Given the description of an element on the screen output the (x, y) to click on. 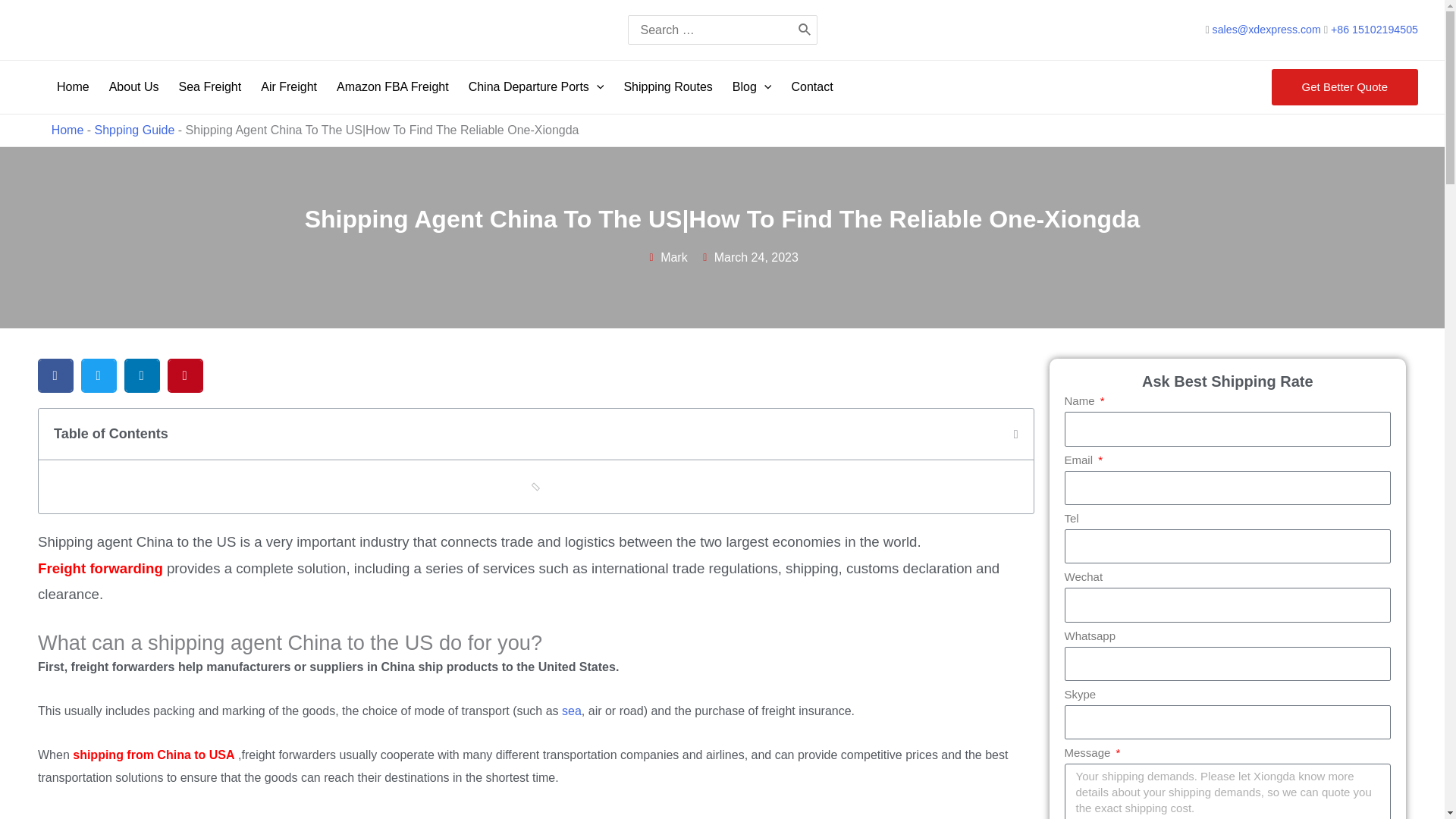
Contact (813, 86)
Blog (754, 86)
Sea Freight (212, 86)
Shipping Routes (669, 86)
Get Better Quote (1344, 86)
About Us (136, 86)
China Departure Ports (538, 86)
Home (75, 86)
Amazon FBA Freight (395, 86)
Air Freight (291, 86)
